Given the description of an element on the screen output the (x, y) to click on. 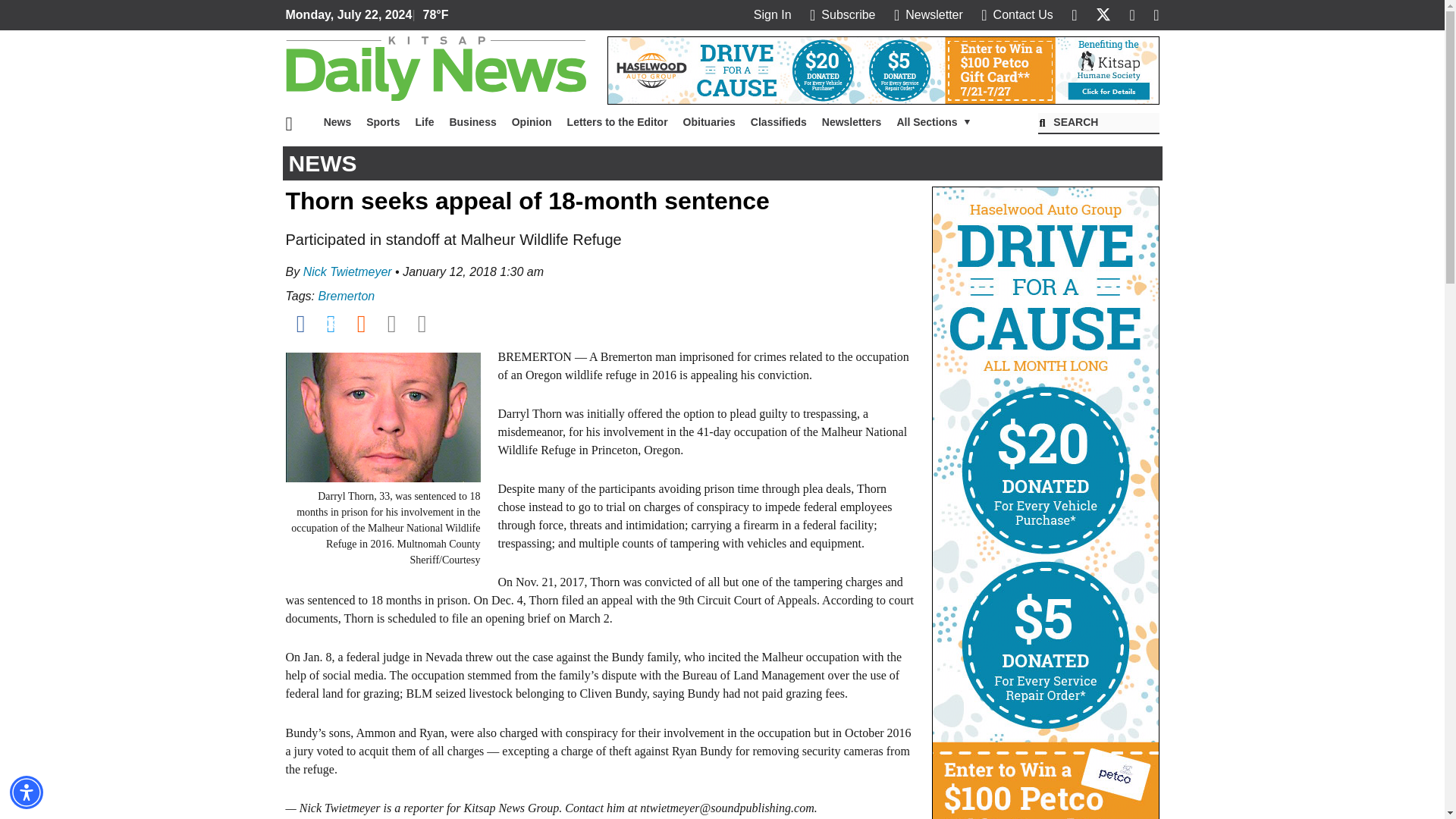
News (337, 122)
Sports (382, 122)
Email story (390, 323)
Subscribe (842, 14)
Post to Facebook (300, 323)
3rd party ad content (882, 70)
Post to Twitter (330, 323)
Classifieds (777, 122)
Obituaries (708, 122)
Post to Reddit (360, 323)
Letters to the Editor (617, 122)
Life (424, 122)
Search (1097, 123)
Sign In (773, 14)
All Sections (933, 122)
